Given the description of an element on the screen output the (x, y) to click on. 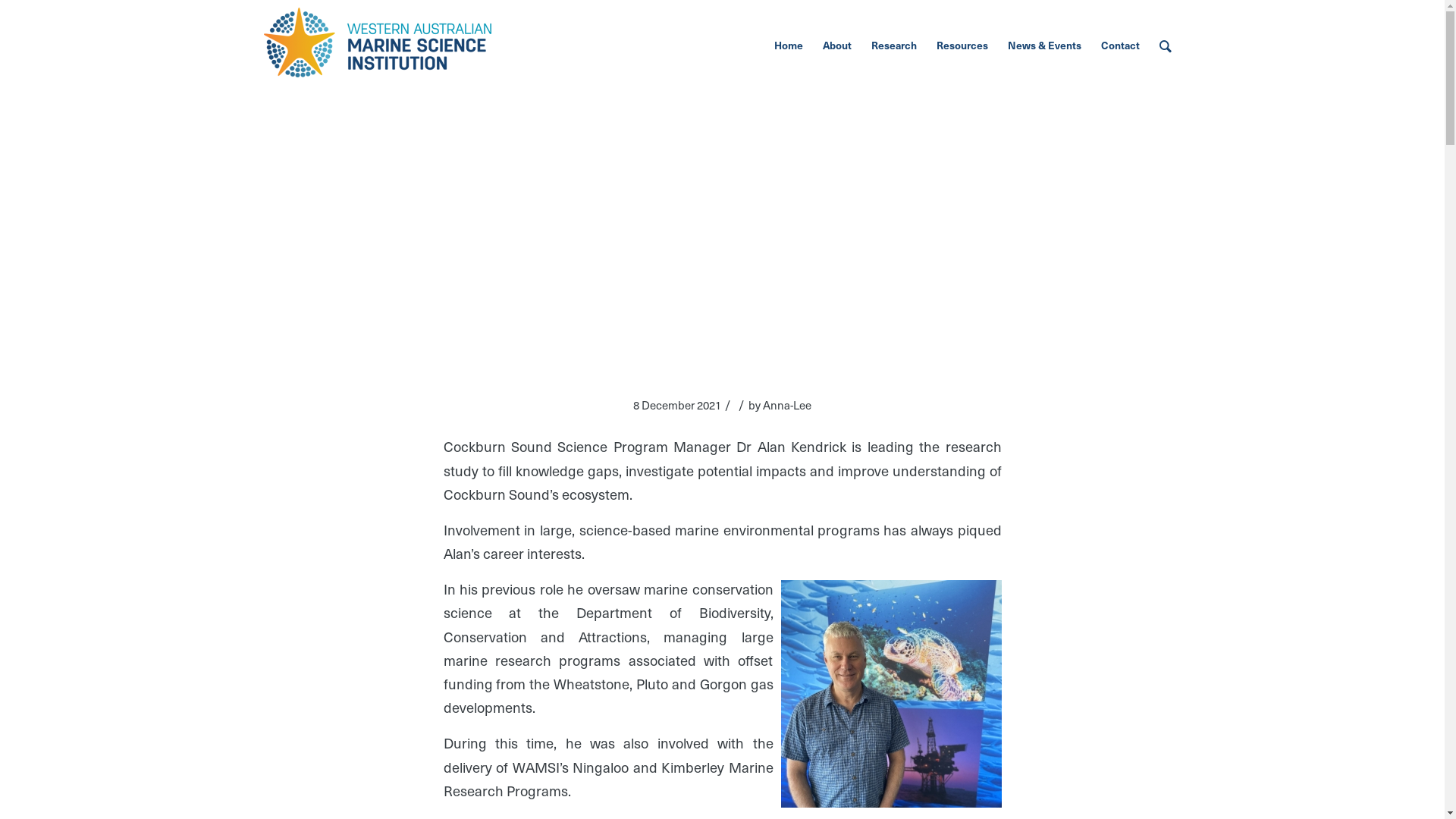
Contact Element type: text (1119, 45)
Home Element type: text (788, 45)
News Element type: text (312, 315)
About Element type: text (836, 45)
WAMSI Bulletin September 2023 Element type: text (403, 315)
Resources Element type: text (961, 45)
2021 Element type: text (492, 315)
News & Events Element type: text (1044, 45)
Research Element type: text (893, 45)
Home Element type: text (278, 315)
Anna-Lee Element type: text (786, 404)
